Given the description of an element on the screen output the (x, y) to click on. 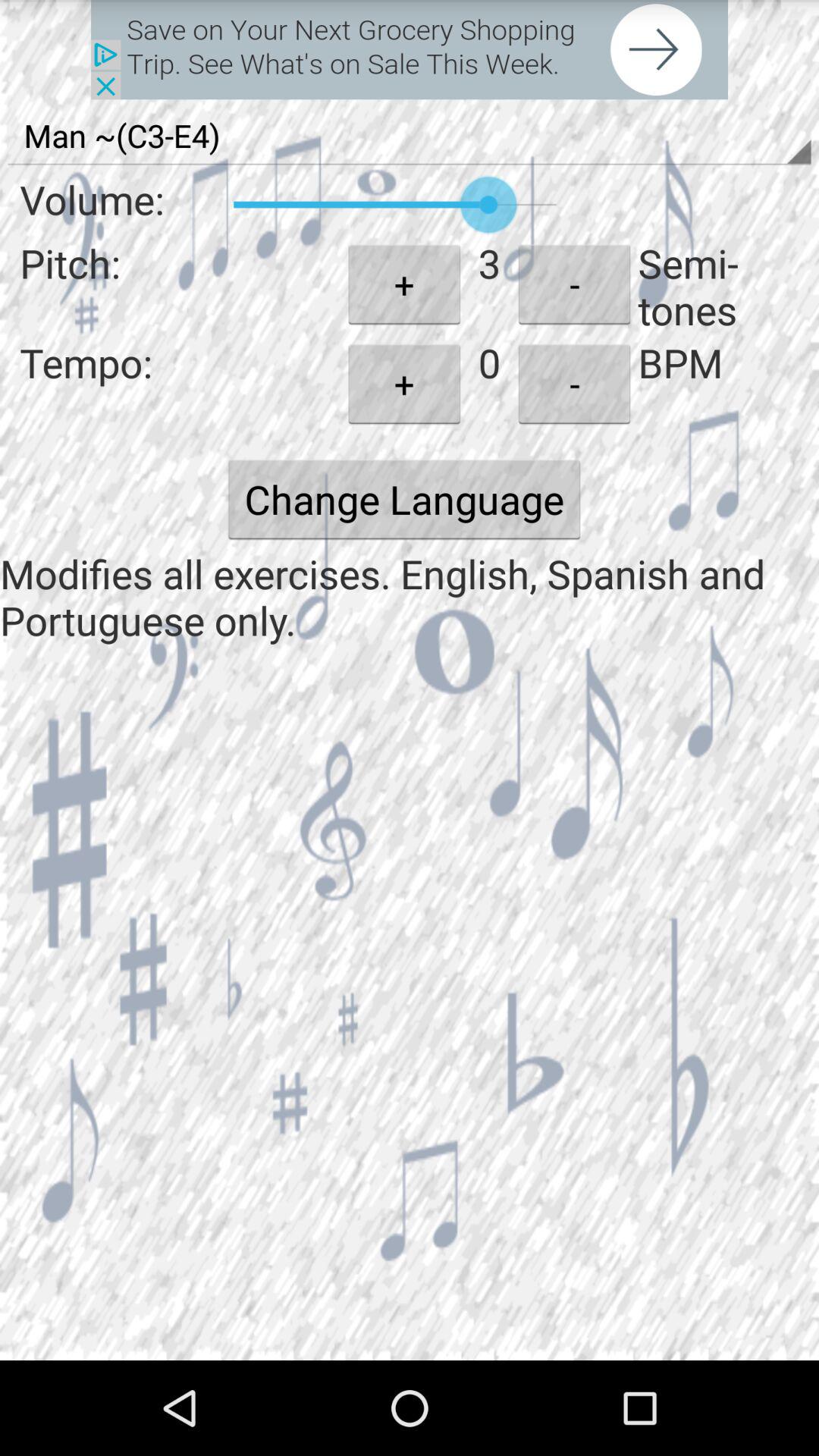
advertisement page (409, 49)
